Given the description of an element on the screen output the (x, y) to click on. 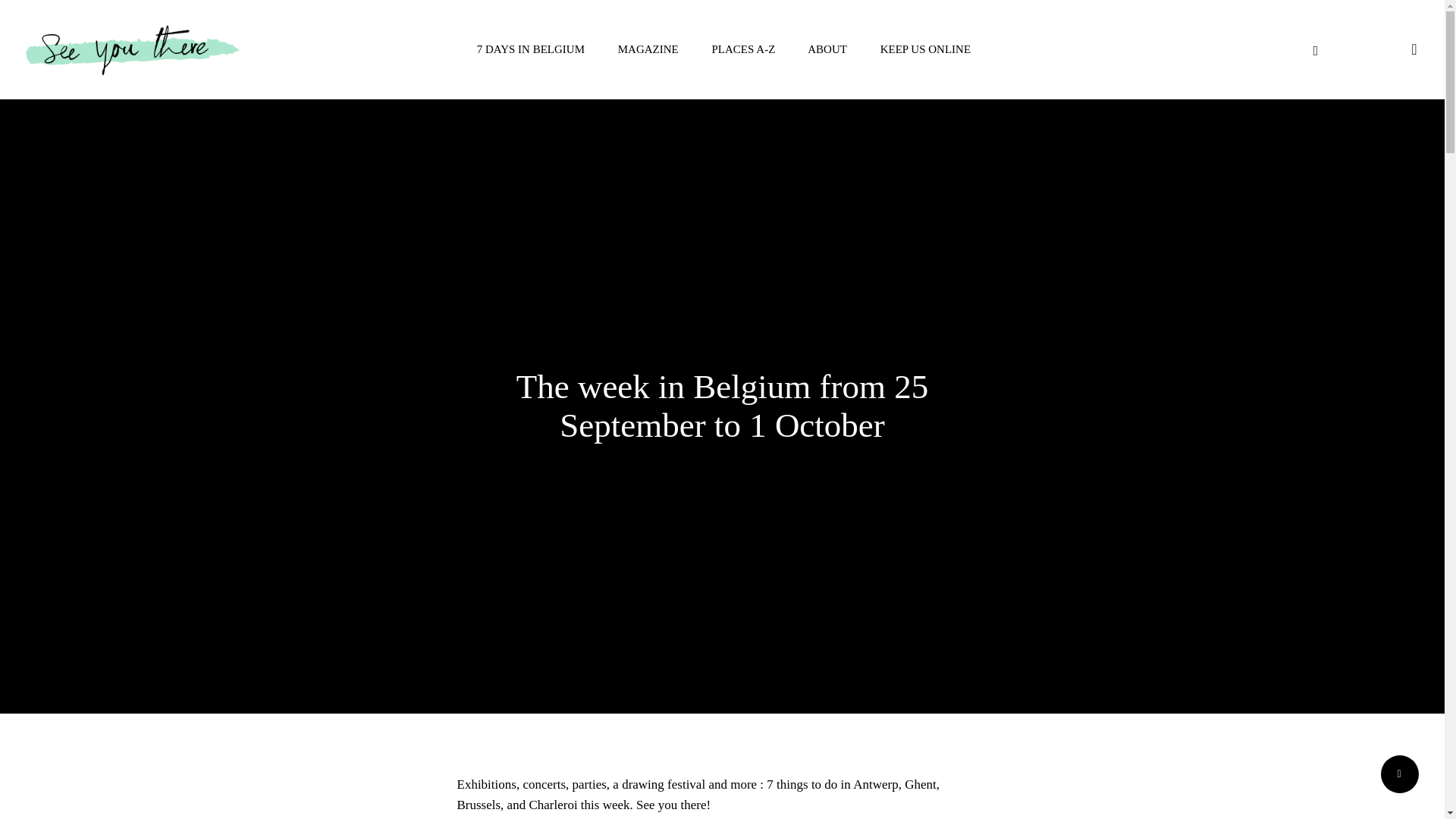
instagram (1342, 49)
7 DAYS IN BELGIUM (529, 49)
facebook (1315, 49)
ABOUT (826, 49)
PLACES A-Z (742, 49)
MAGAZINE (646, 49)
search (1414, 49)
KEEP US ONLINE (924, 49)
email (1370, 49)
